Given the description of an element on the screen output the (x, y) to click on. 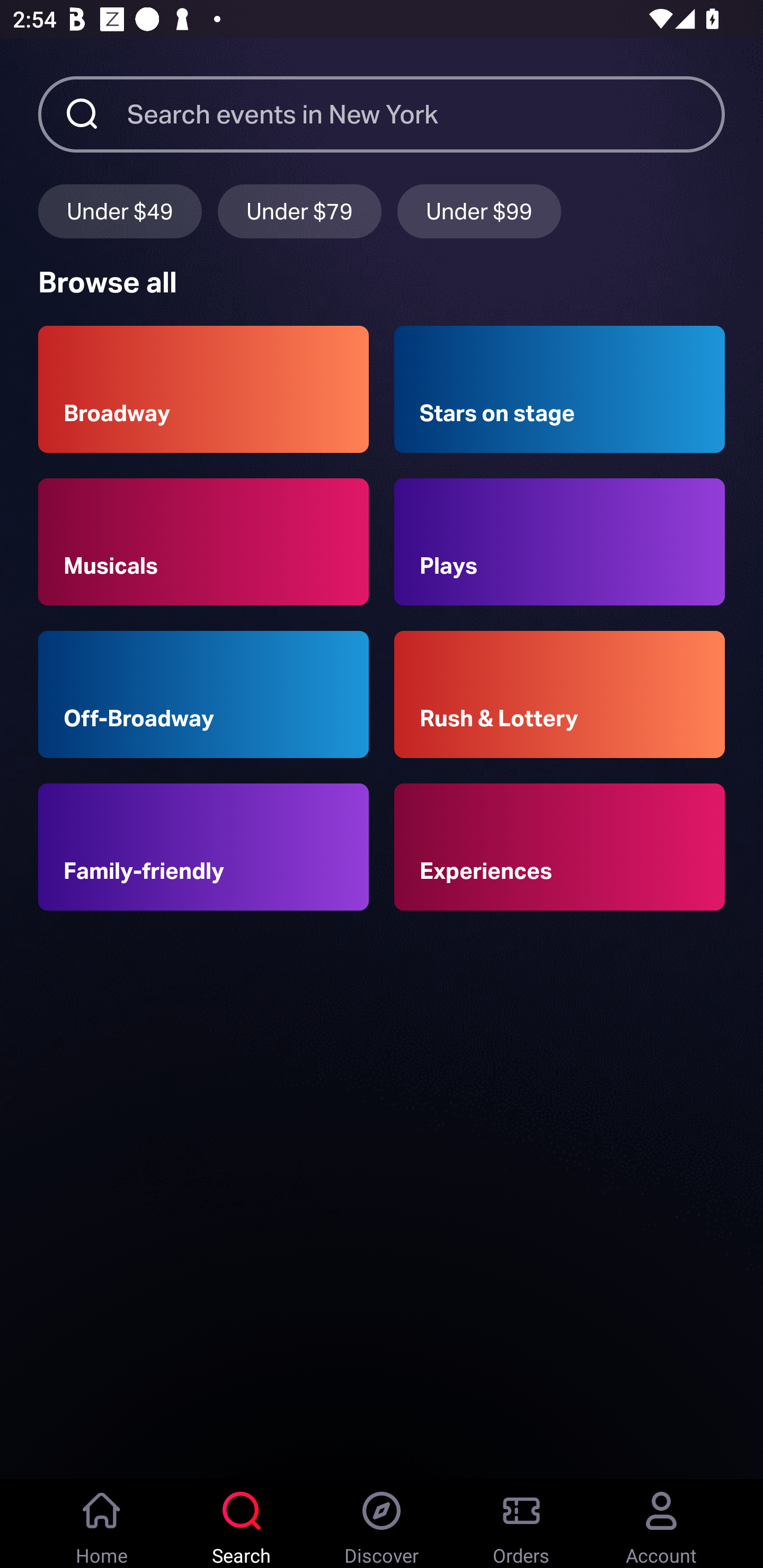
Search events in New York (425, 113)
Under $49 (120, 211)
Under $79 (299, 211)
Under $99 (478, 211)
Broadway (203, 389)
Stars on stage (559, 389)
Musicals (203, 541)
Plays (559, 541)
Off-Broadway (203, 693)
Rush & Lottery (559, 693)
Family-friendly (203, 847)
Experiences (559, 847)
Home (101, 1523)
Discover (381, 1523)
Orders (521, 1523)
Account (660, 1523)
